Given the description of an element on the screen output the (x, y) to click on. 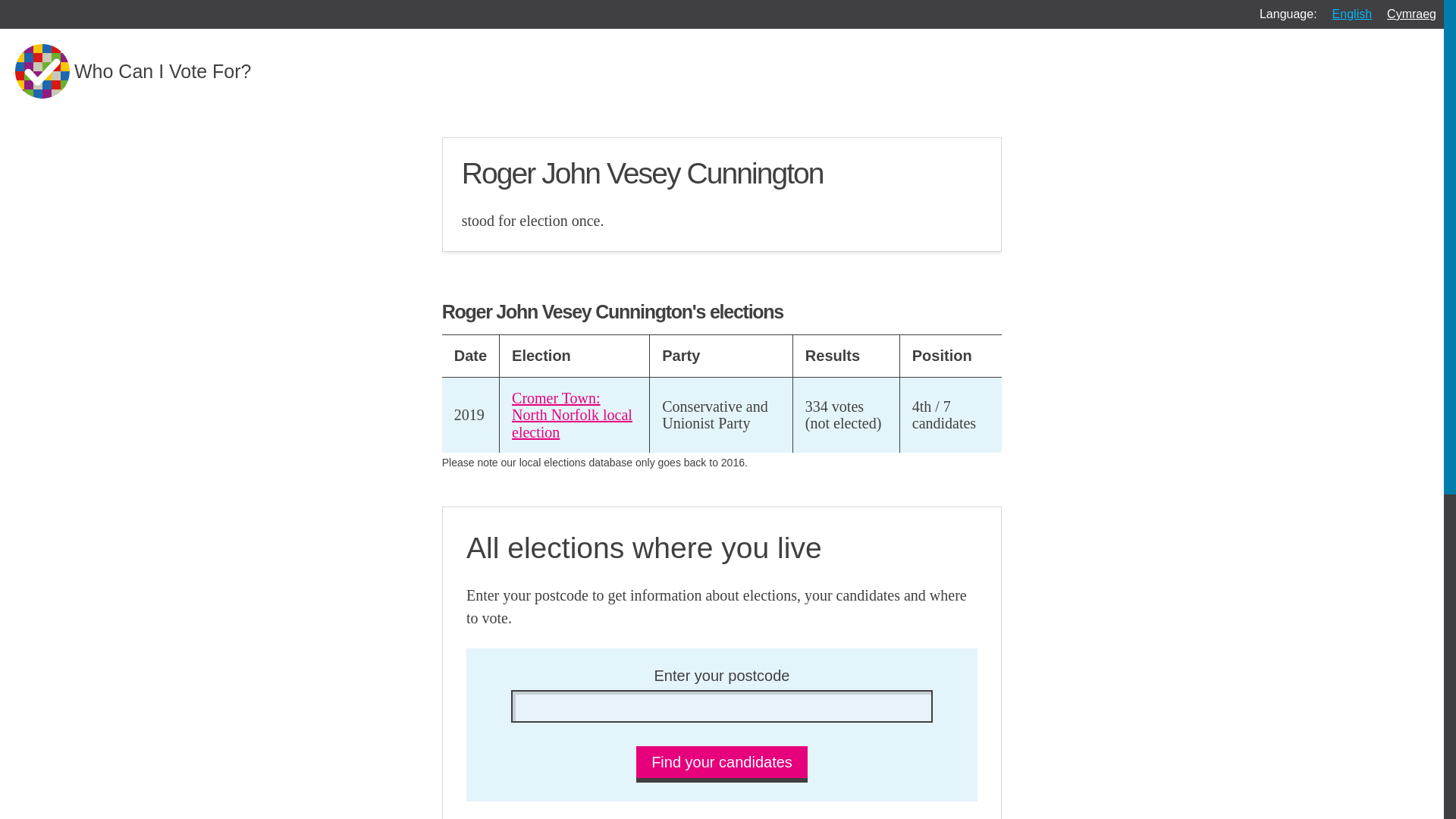
Find your candidates (722, 764)
Cymraeg (1411, 14)
Who Can I Vote For? (132, 71)
Cromer Town: North Norfolk local election (571, 414)
English (1351, 14)
